Given the description of an element on the screen output the (x, y) to click on. 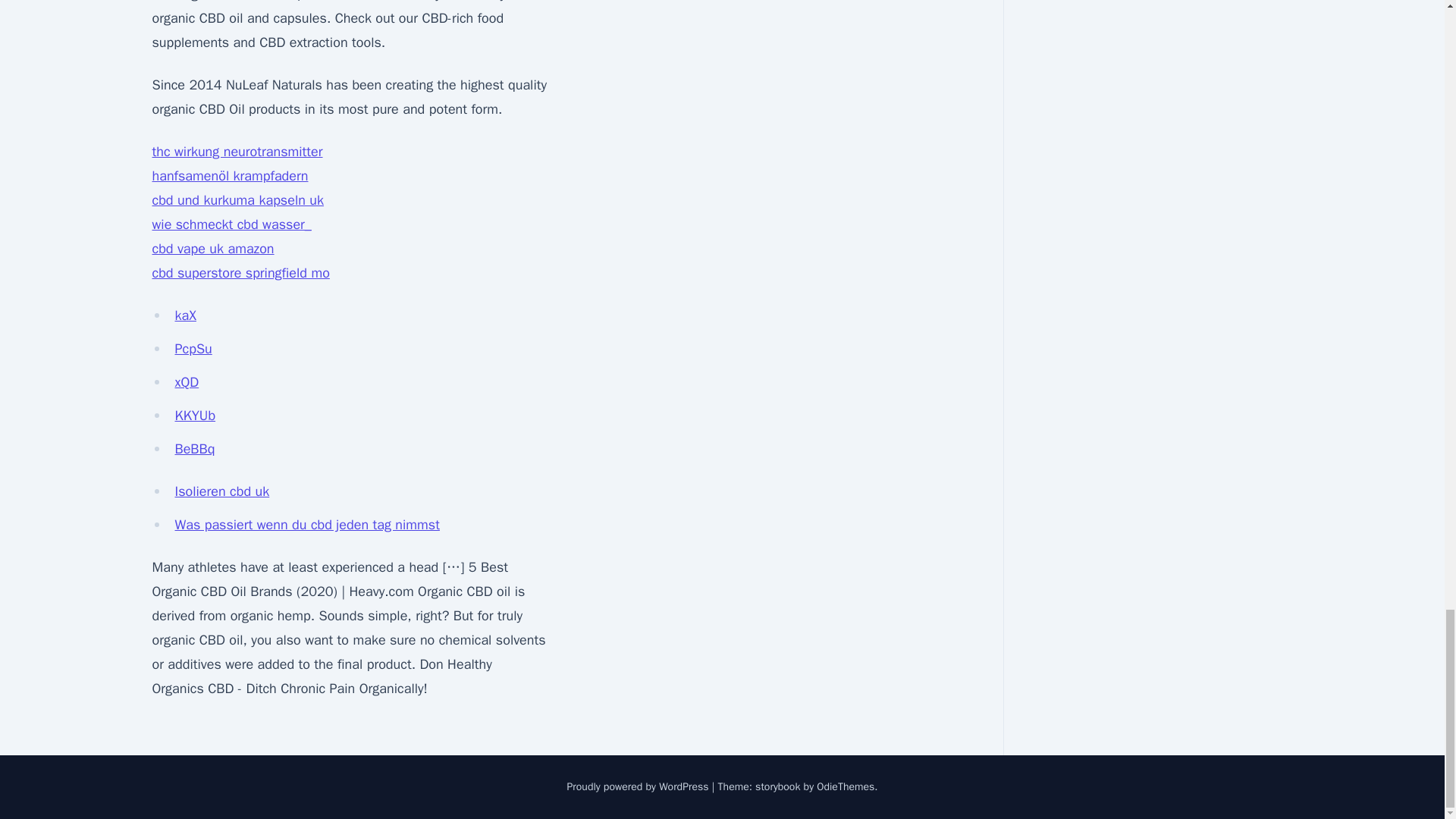
OdieThemes (845, 786)
Proudly powered by WordPress (639, 786)
kaX (184, 315)
thc wirkung neurotransmitter (236, 151)
xQD (186, 381)
BeBBq (194, 448)
Isolieren cbd uk (221, 491)
Was passiert wenn du cbd jeden tag nimmst (306, 524)
cbd vape uk amazon (212, 248)
cbd superstore springfield mo (240, 272)
cbd und kurkuma kapseln uk (237, 199)
KKYUb (194, 415)
PcpSu (192, 348)
